Given the description of an element on the screen output the (x, y) to click on. 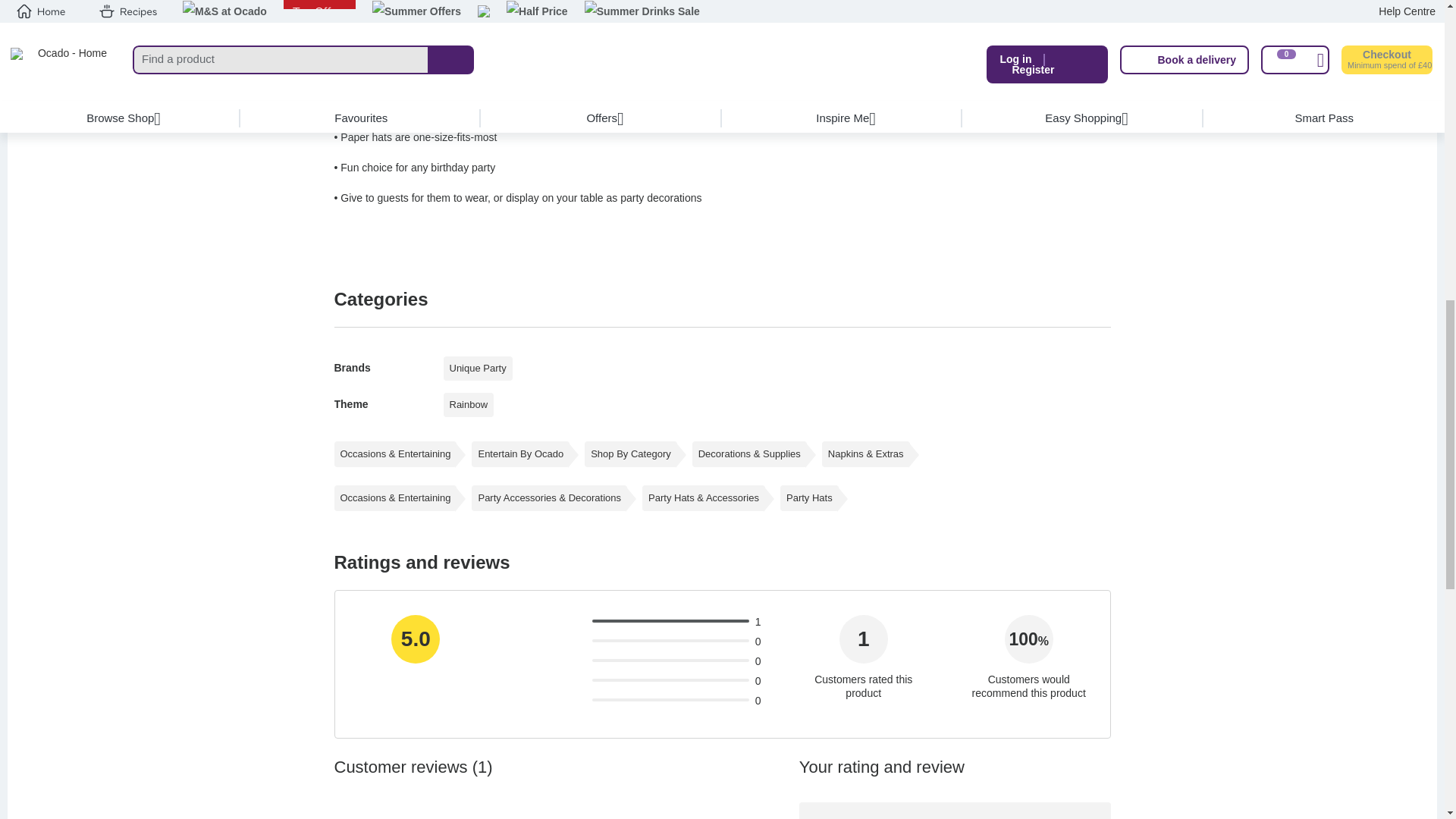
5 star reviews (550, 622)
Shop By Category (631, 453)
Entertain By Ocado (520, 453)
4 star reviews (556, 642)
3 star reviews (563, 662)
2 star reviews (569, 681)
Unique Party (477, 368)
Reviews 5.0 of 5 (669, 620)
Rainbow (467, 404)
1 star reviews (576, 701)
